Given the description of an element on the screen output the (x, y) to click on. 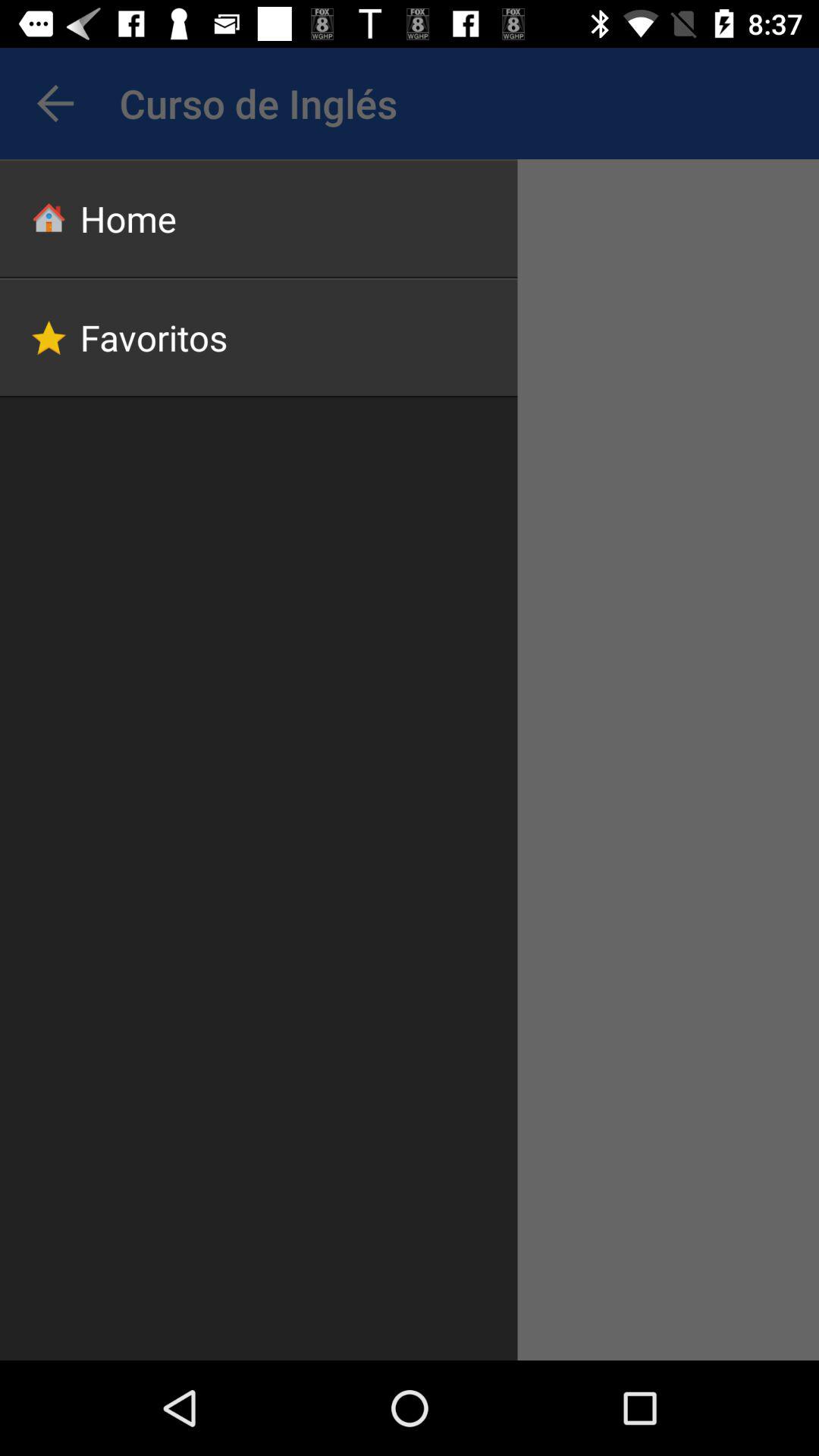
select favoritos (258, 337)
